Given the description of an element on the screen output the (x, y) to click on. 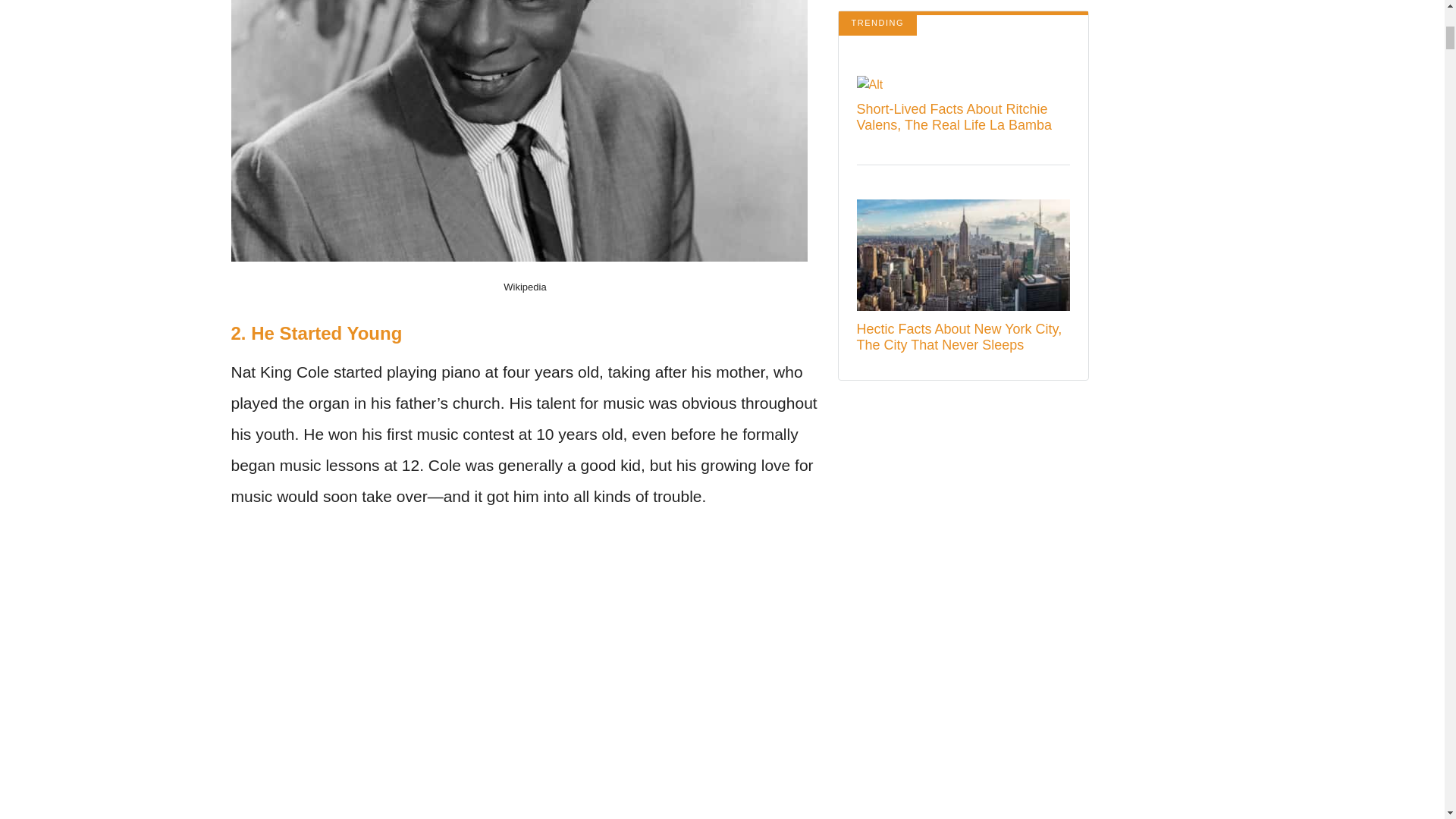
Wikipedia (524, 286)
